Given the description of an element on the screen output the (x, y) to click on. 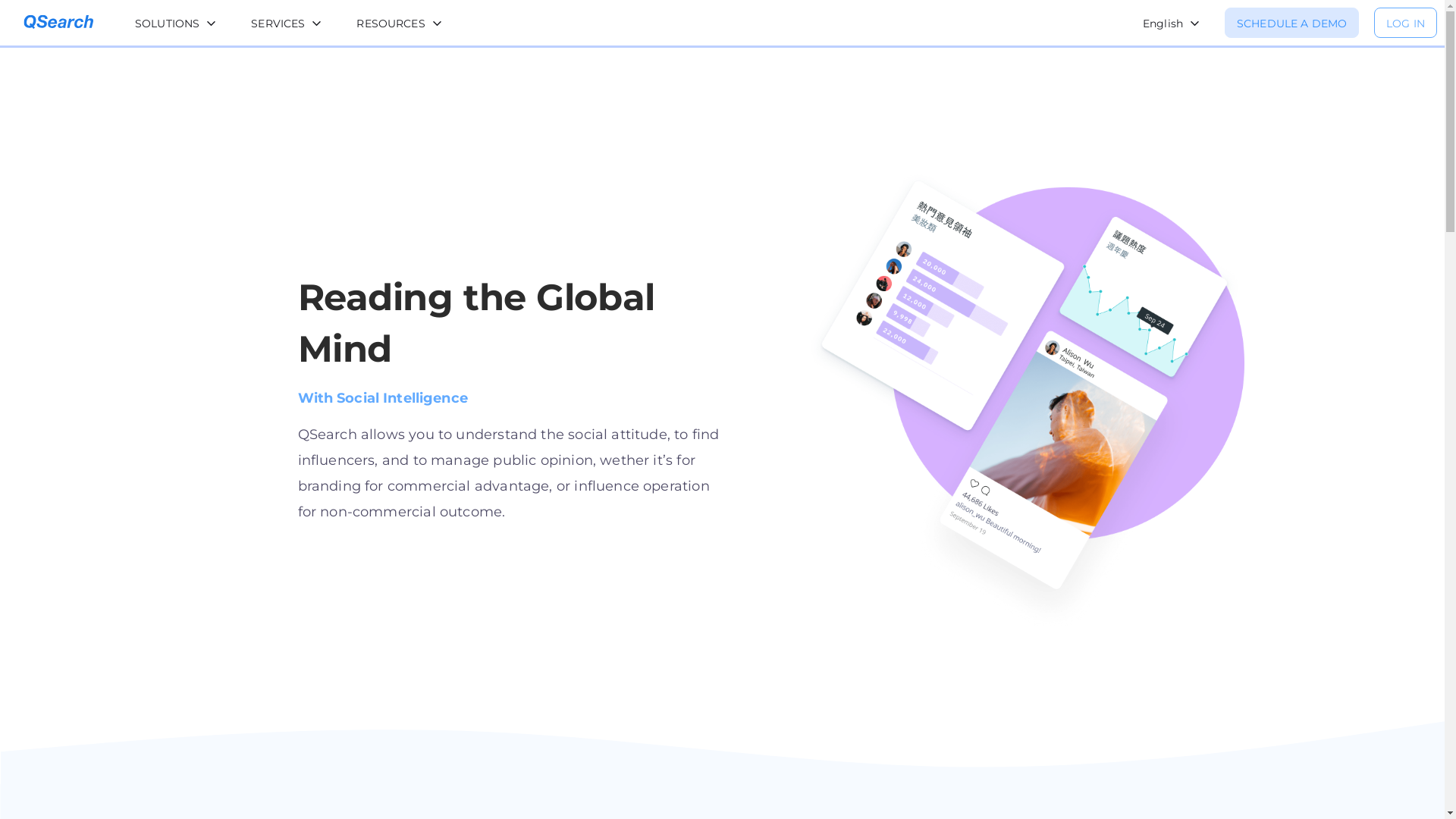
SERVICES Element type: text (285, 23)
English Element type: text (1171, 23)
LOG IN Element type: text (1405, 22)
SOLUTIONS Element type: text (175, 23)
RESOURCES Element type: text (398, 23)
SCHEDULE A DEMO Element type: text (1291, 22)
